Given the description of an element on the screen output the (x, y) to click on. 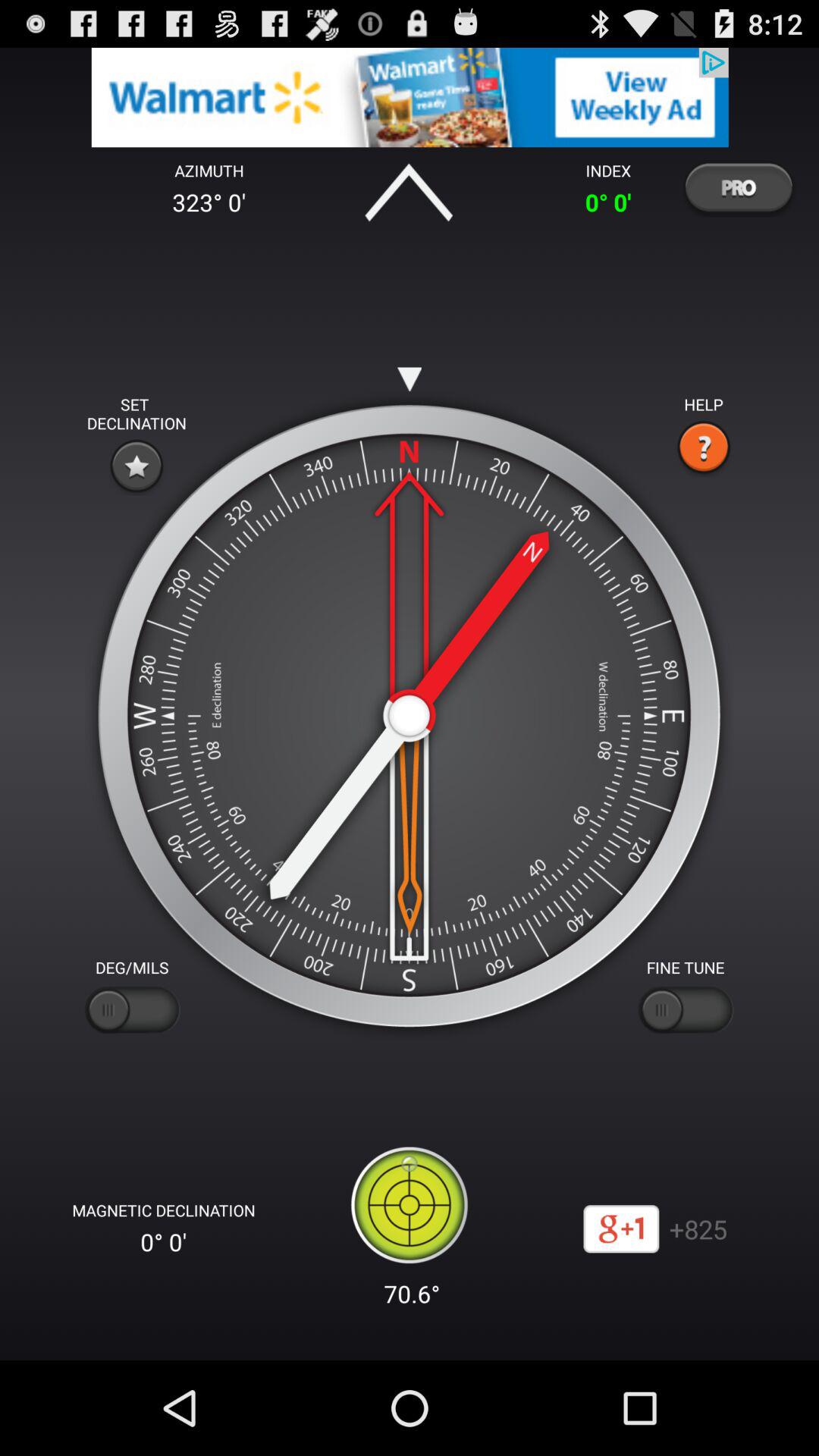
open advertisement (409, 97)
